Given the description of an element on the screen output the (x, y) to click on. 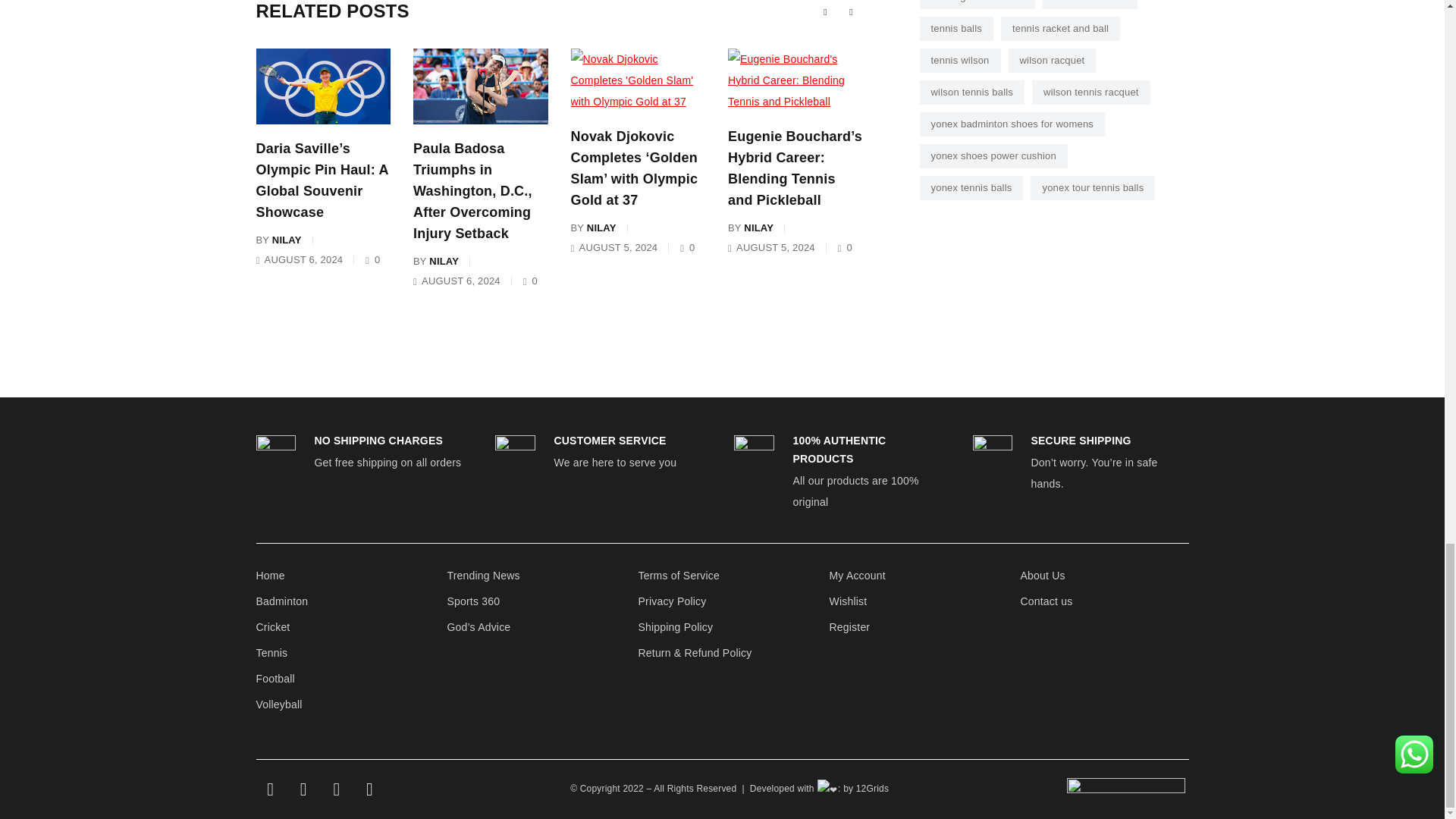
Posts by Nilay (286, 240)
Posts by Nilay (443, 261)
